Given the description of an element on the screen output the (x, y) to click on. 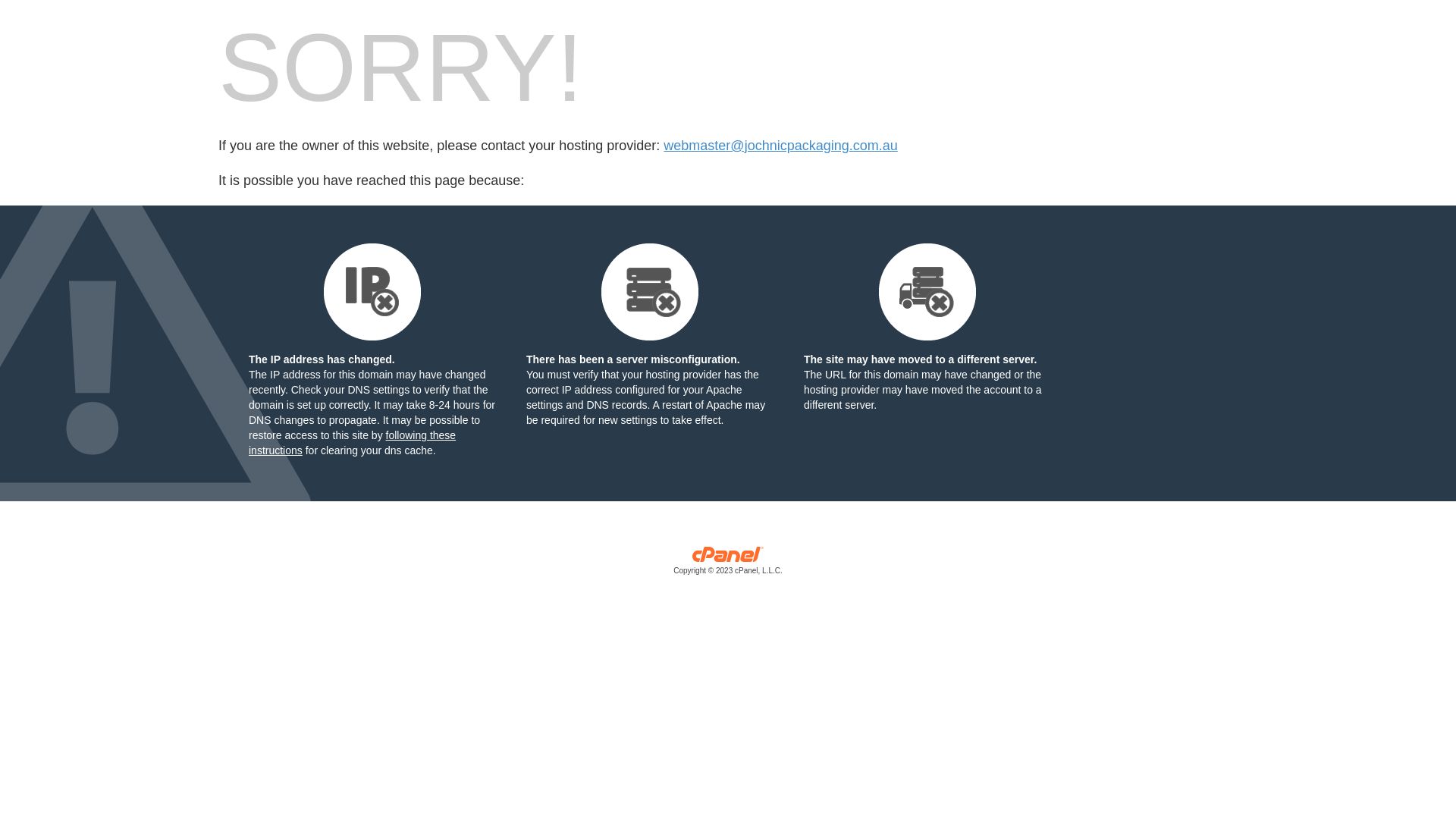
webmaster@jochnicpackaging.com.au Element type: text (780, 145)
following these instructions Element type: text (351, 442)
